Given the description of an element on the screen output the (x, y) to click on. 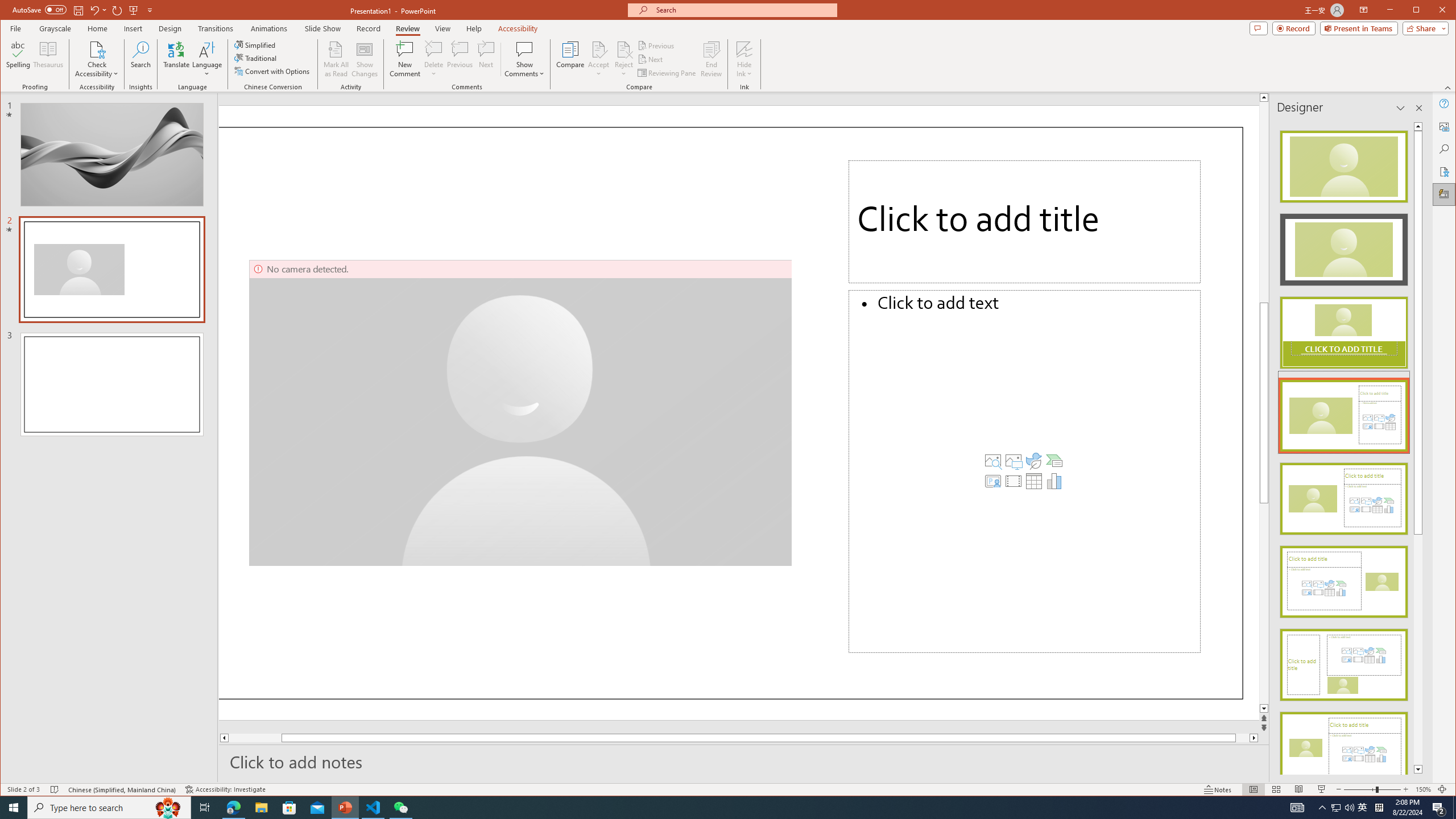
Compare (569, 59)
Insert Video (1013, 480)
Thesaurus... (48, 59)
